Given the description of an element on the screen output the (x, y) to click on. 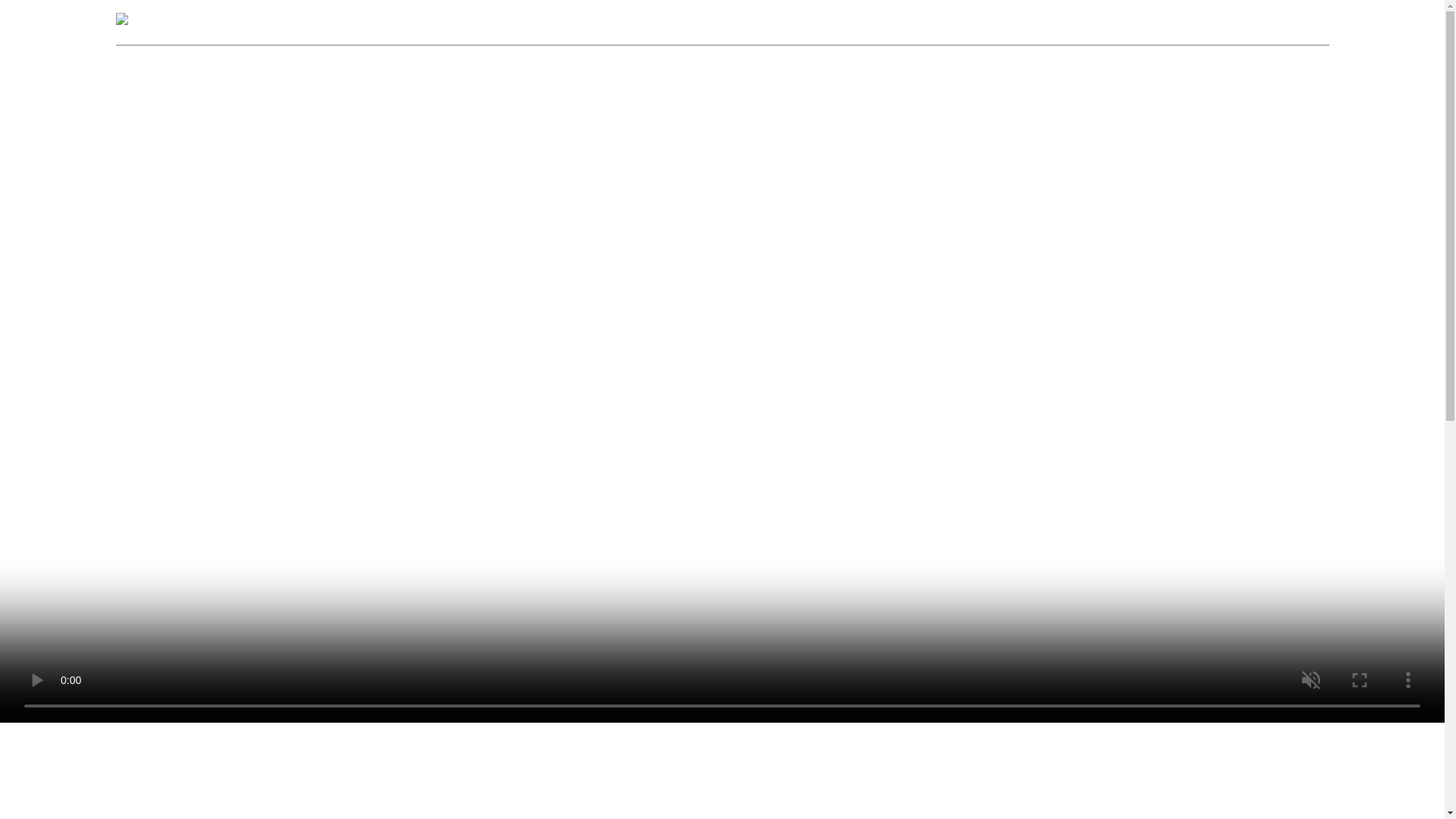
Kinky Stuff (1000, 21)
Browse All Girls (625, 21)
Sex Services (821, 21)
Casting (1162, 21)
